Given the description of an element on the screen output the (x, y) to click on. 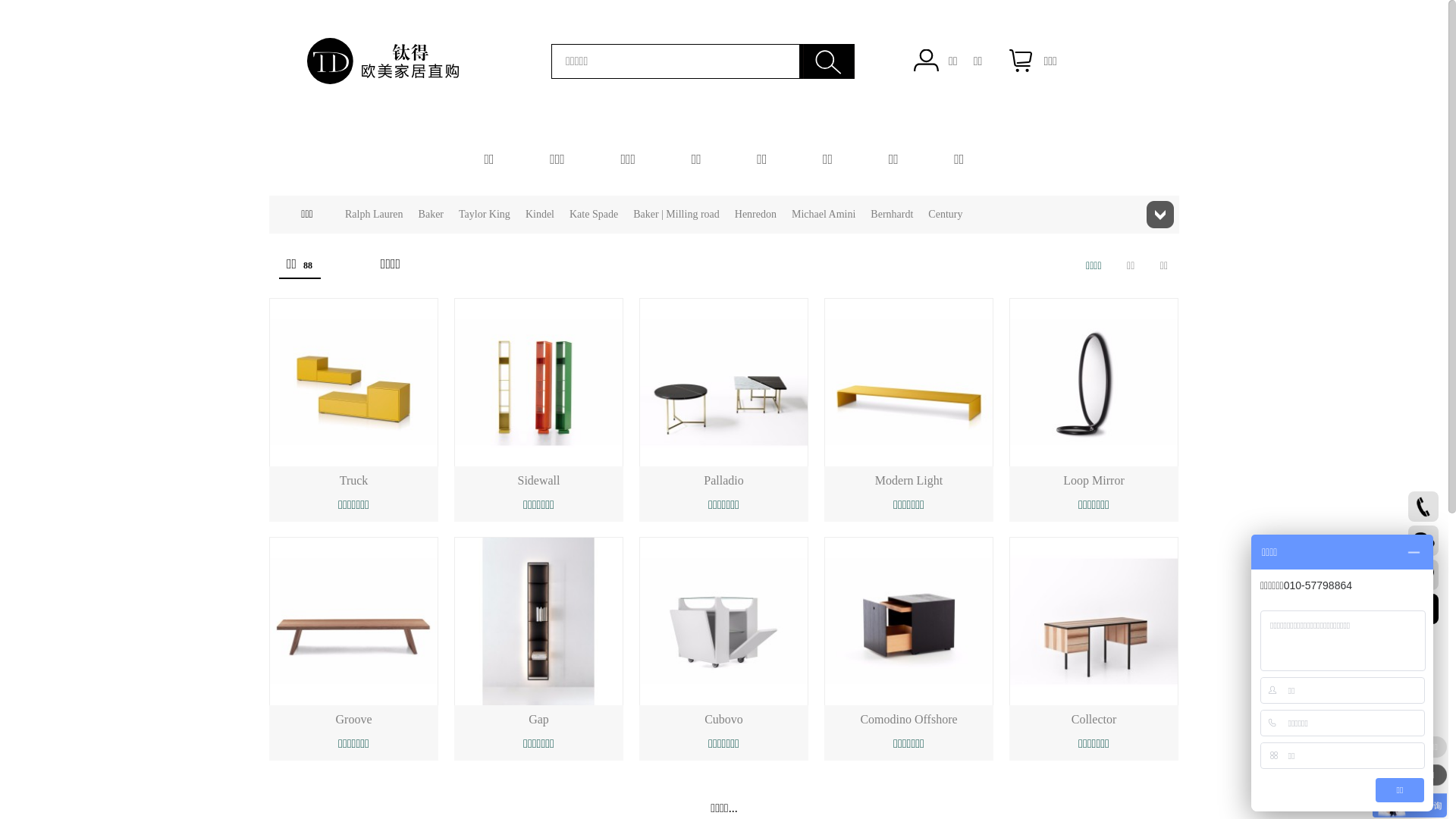
Truck Element type: text (353, 479)
Comodino Offshore Element type: text (908, 718)
Gap Element type: text (538, 718)
Palladio Element type: text (723, 479)
Cubovo Element type: text (723, 718)
Modern Light Element type: text (908, 479)
Taylor King Element type: text (484, 214)
Groove Element type: text (353, 718)
Kindel Element type: text (539, 214)
Baker | Milling road Element type: text (676, 214)
Collector Element type: text (1094, 718)
Loop Mirror Element type: text (1093, 479)
Kate Spade Element type: text (593, 214)
Baker Element type: text (430, 214)
Century Element type: text (945, 214)
Bernhardt Element type: text (891, 214)
Henredon Element type: text (755, 214)
Sidewall Element type: text (538, 479)
Ralph Lauren Element type: text (374, 214)
Michael Amini Element type: text (823, 214)
